Given the description of an element on the screen output the (x, y) to click on. 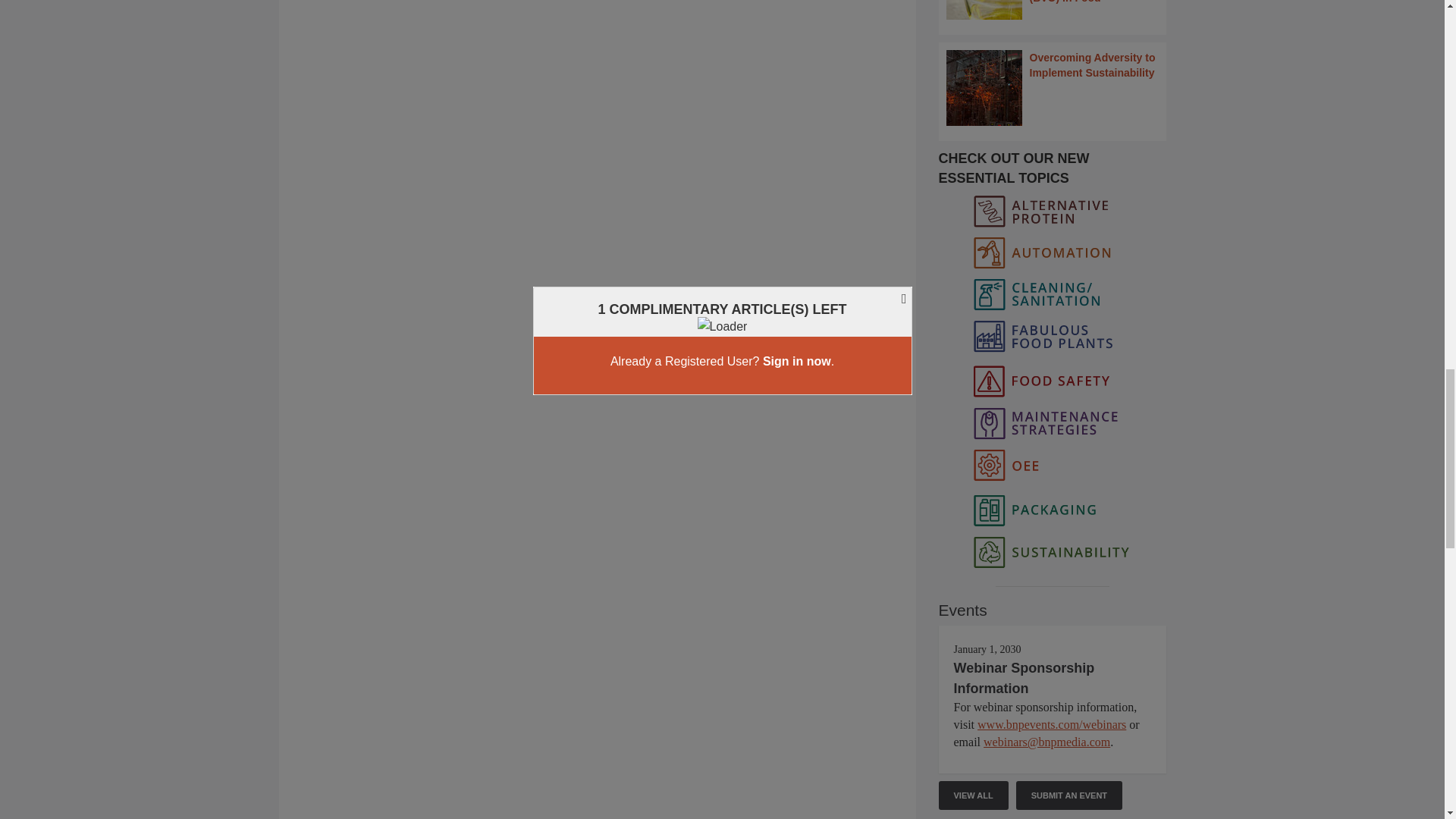
Webinar Sponsorship Information (1023, 677)
Overcoming Adversity to Implement Sustainability  (1052, 87)
Interaction questions (597, 101)
